Given the description of an element on the screen output the (x, y) to click on. 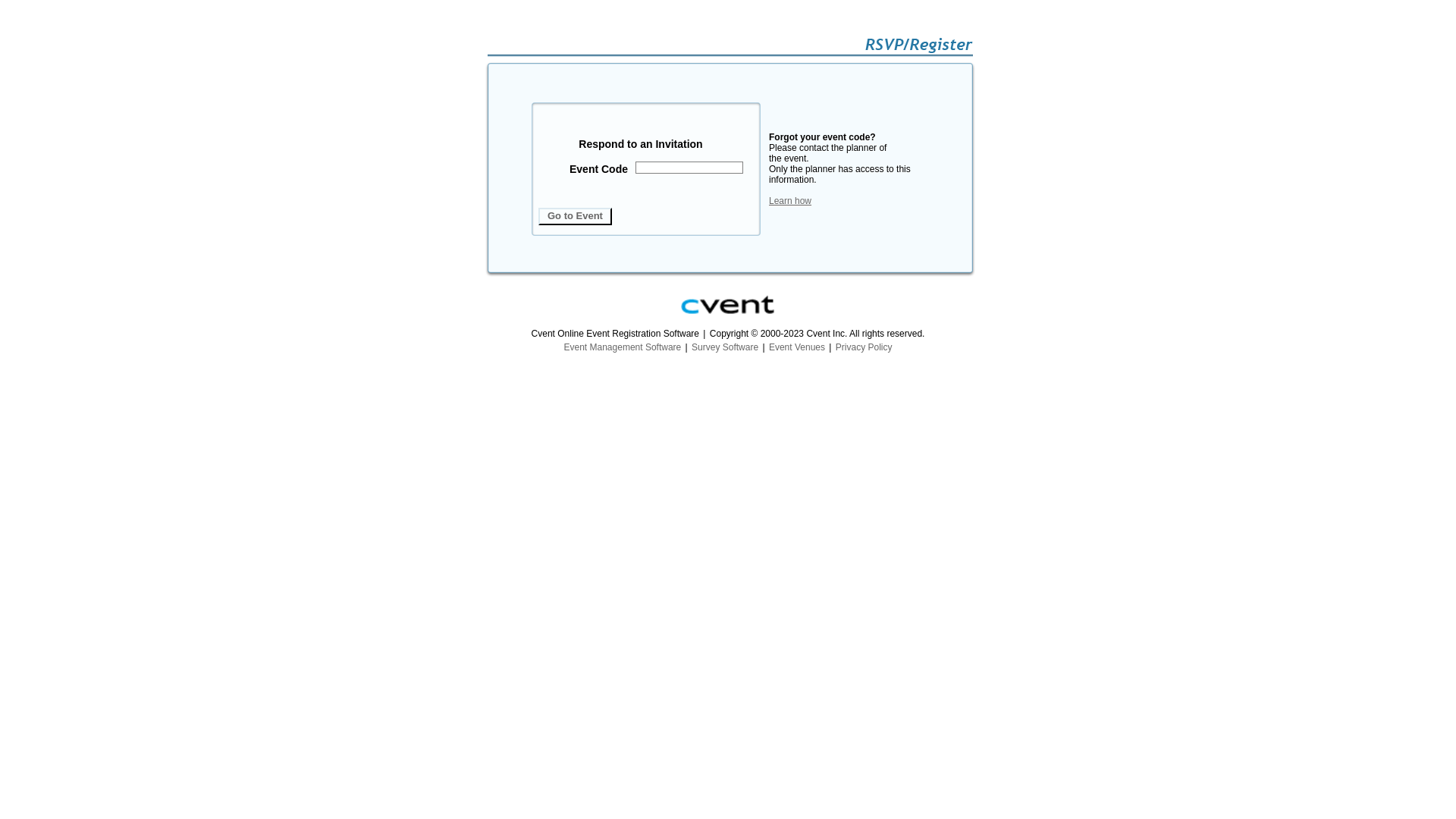
Event Management Software Element type: text (622, 347)
Event Venues Element type: text (796, 347)
Cvent Online Event Registration Software Element type: hover (727, 304)
Go to Event Element type: text (574, 215)
Survey Software Element type: text (724, 347)
Privacy Policy Element type: text (863, 347)
Learn how Element type: text (789, 200)
